Given the description of an element on the screen output the (x, y) to click on. 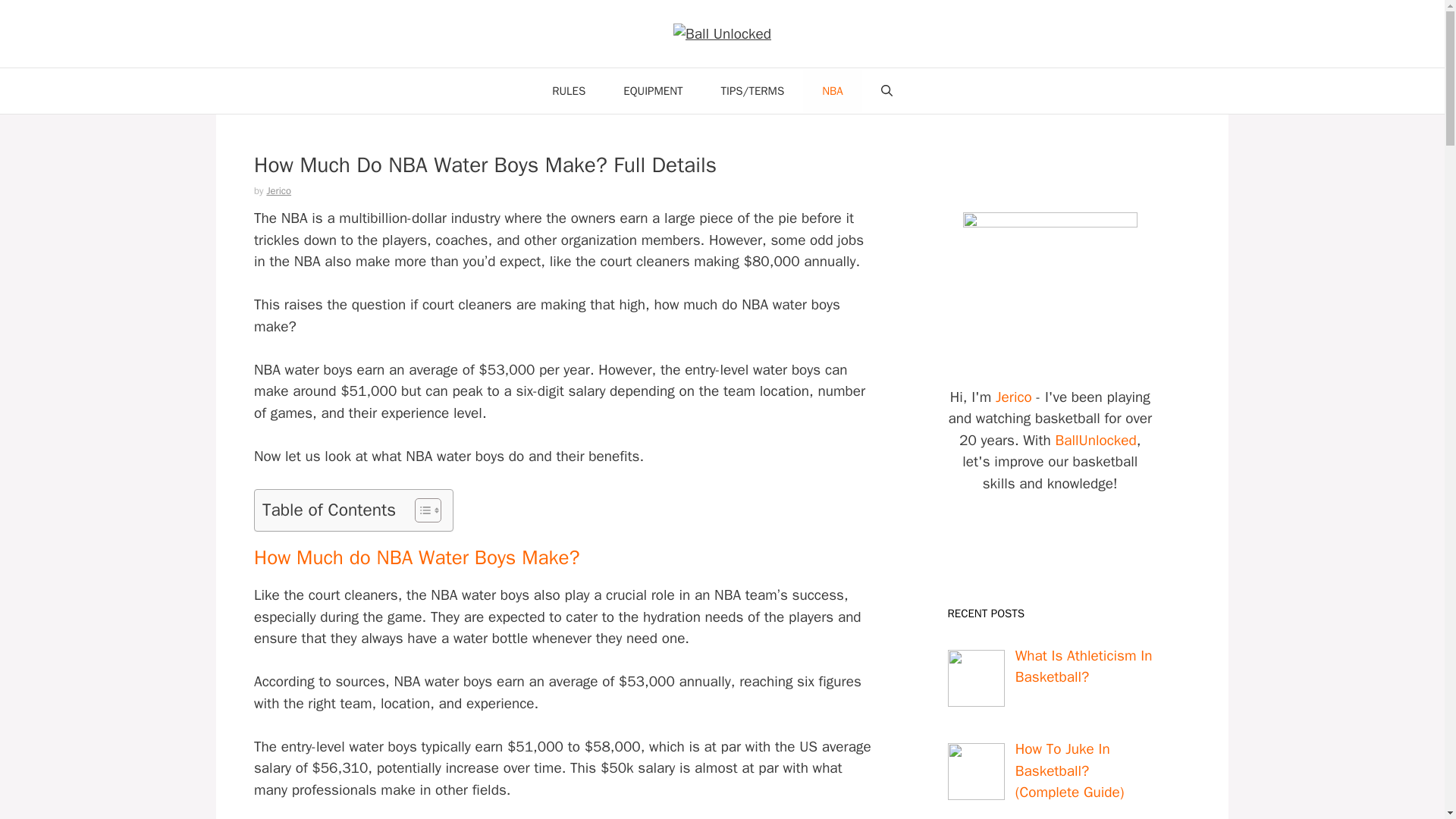
View all posts by Jerico (278, 190)
BallUnlocked (1094, 440)
NBA (832, 90)
EQUIPMENT (652, 90)
What Is Athleticism In Basketball? (1117, 667)
Jerico (278, 190)
Jerico (1013, 397)
RULES (568, 90)
